Given the description of an element on the screen output the (x, y) to click on. 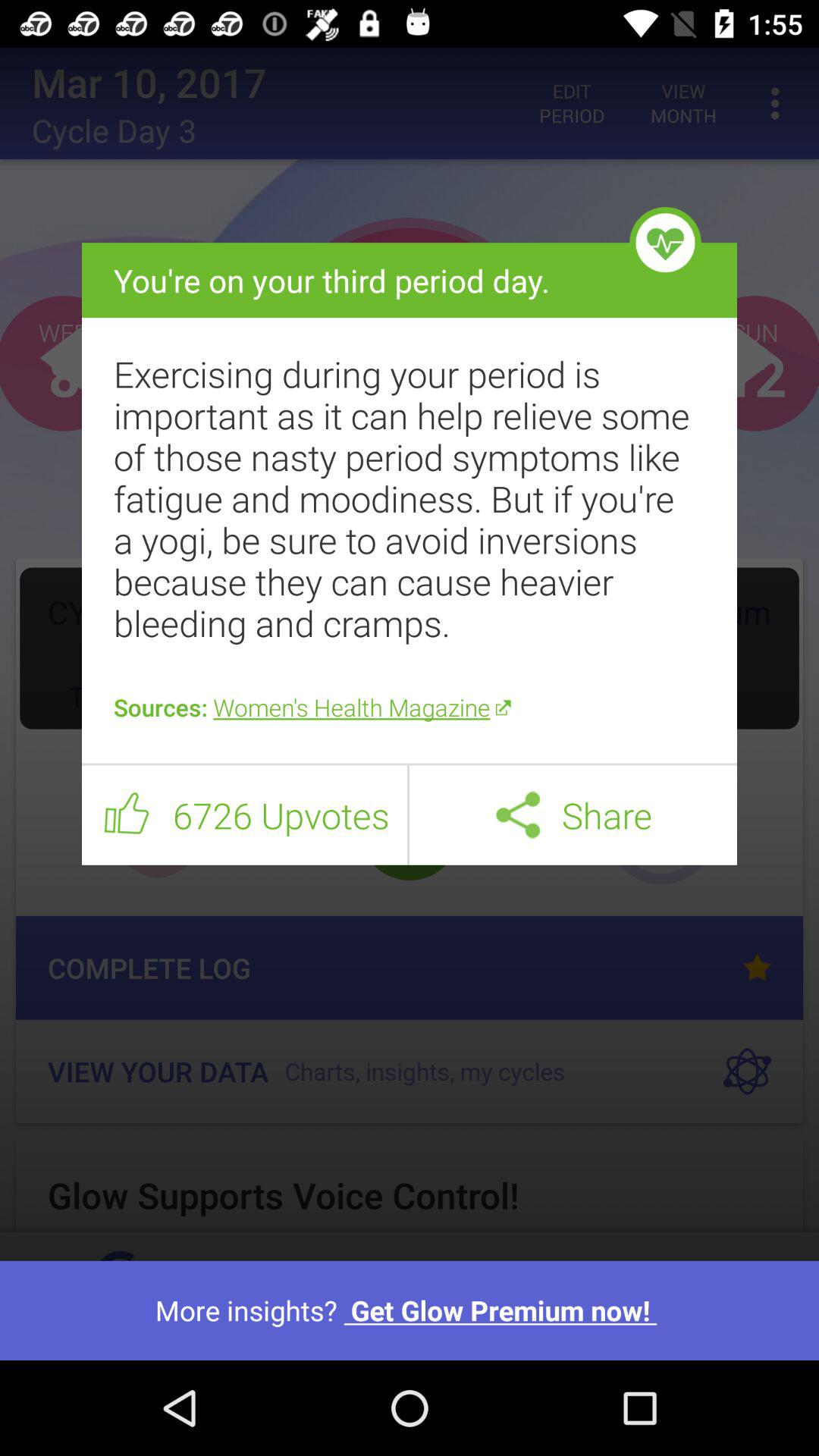
turn off the 6726 upvotes icon (280, 815)
